Given the description of an element on the screen output the (x, y) to click on. 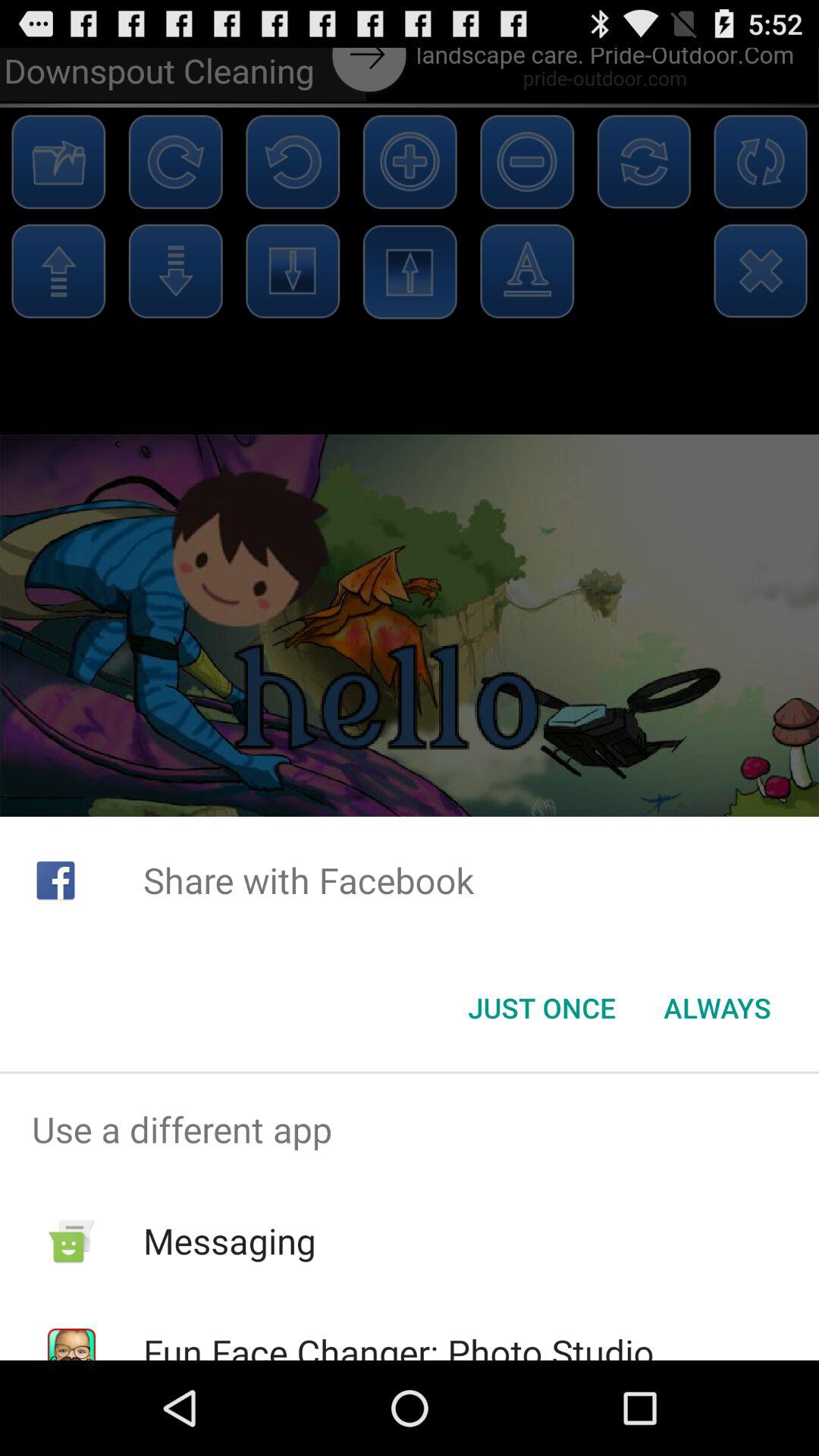
press the item below share with facebook (541, 1007)
